Given the description of an element on the screen output the (x, y) to click on. 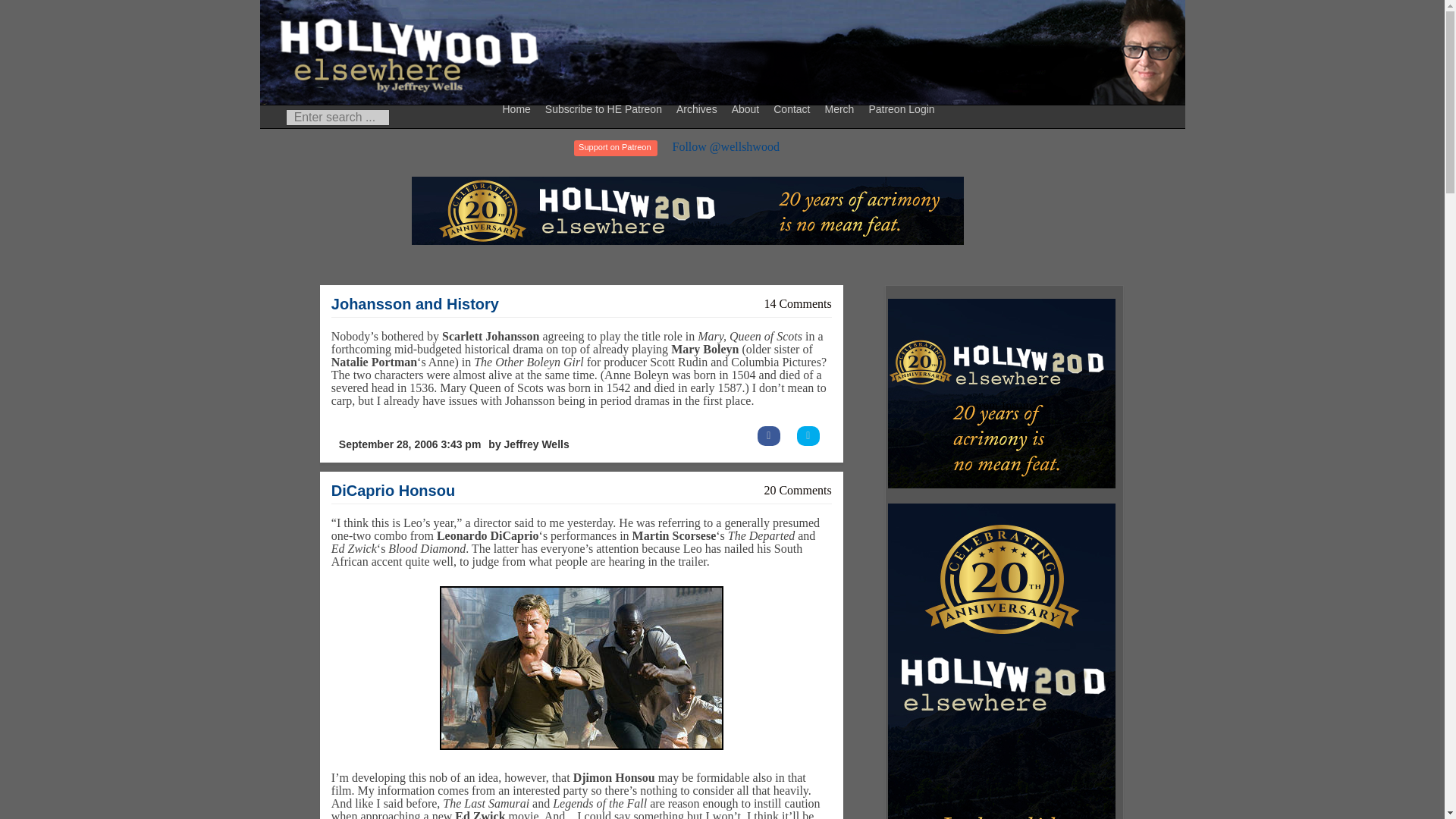
Support on Patreon (614, 148)
20 Comments (796, 490)
September 28, 2006 3:43 pm (409, 444)
Permanent Link to Johansson and History (415, 303)
14 Comments (796, 303)
Home (519, 108)
DiCaprio Honsou (392, 490)
Contact (793, 108)
About (747, 108)
Archives (698, 108)
Subscribe to HE Patreon (605, 108)
by Jeffrey Wells (528, 444)
Merch (841, 108)
Permanent Link to DiCaprio Honsou (392, 490)
Johansson and History (415, 303)
